Given the description of an element on the screen output the (x, y) to click on. 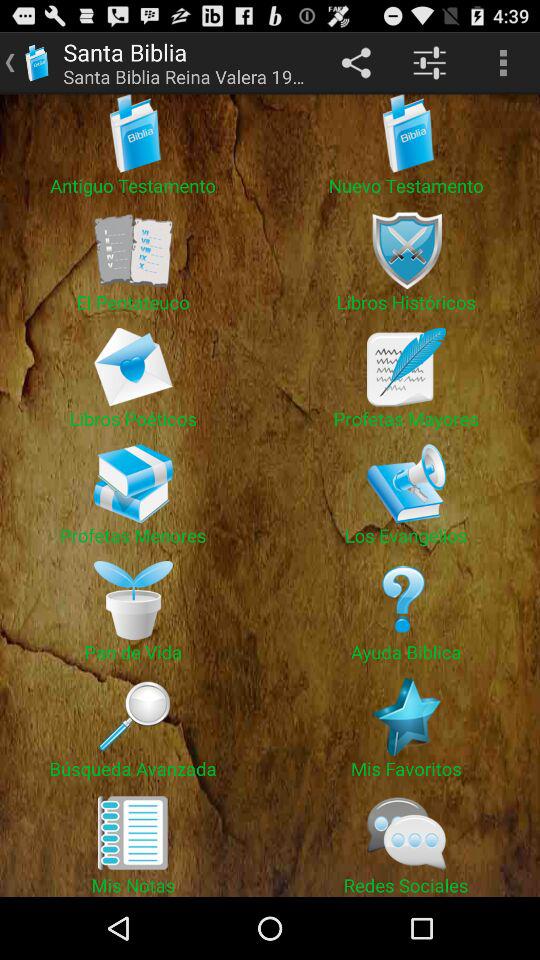
press item next to santa biblia reina app (356, 62)
